Given the description of an element on the screen output the (x, y) to click on. 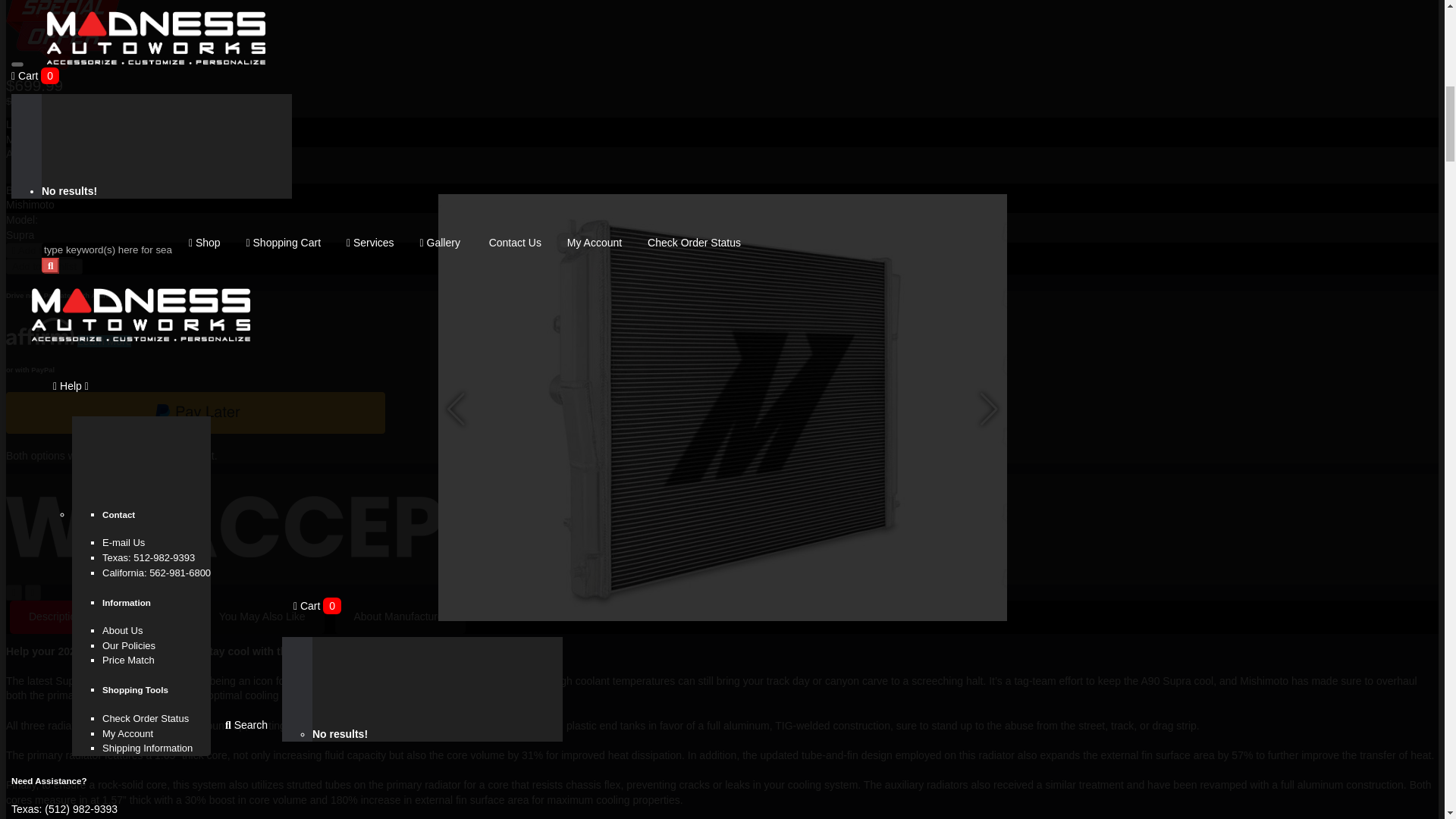
Add to wishlist (43, 266)
Learn More (104, 340)
Mishimoto (30, 204)
Add to Wish List (13, 592)
More info! (28, 139)
Add to Wish List (43, 266)
Compare this Product (32, 592)
Add to Cart (40, 250)
